Given the description of an element on the screen output the (x, y) to click on. 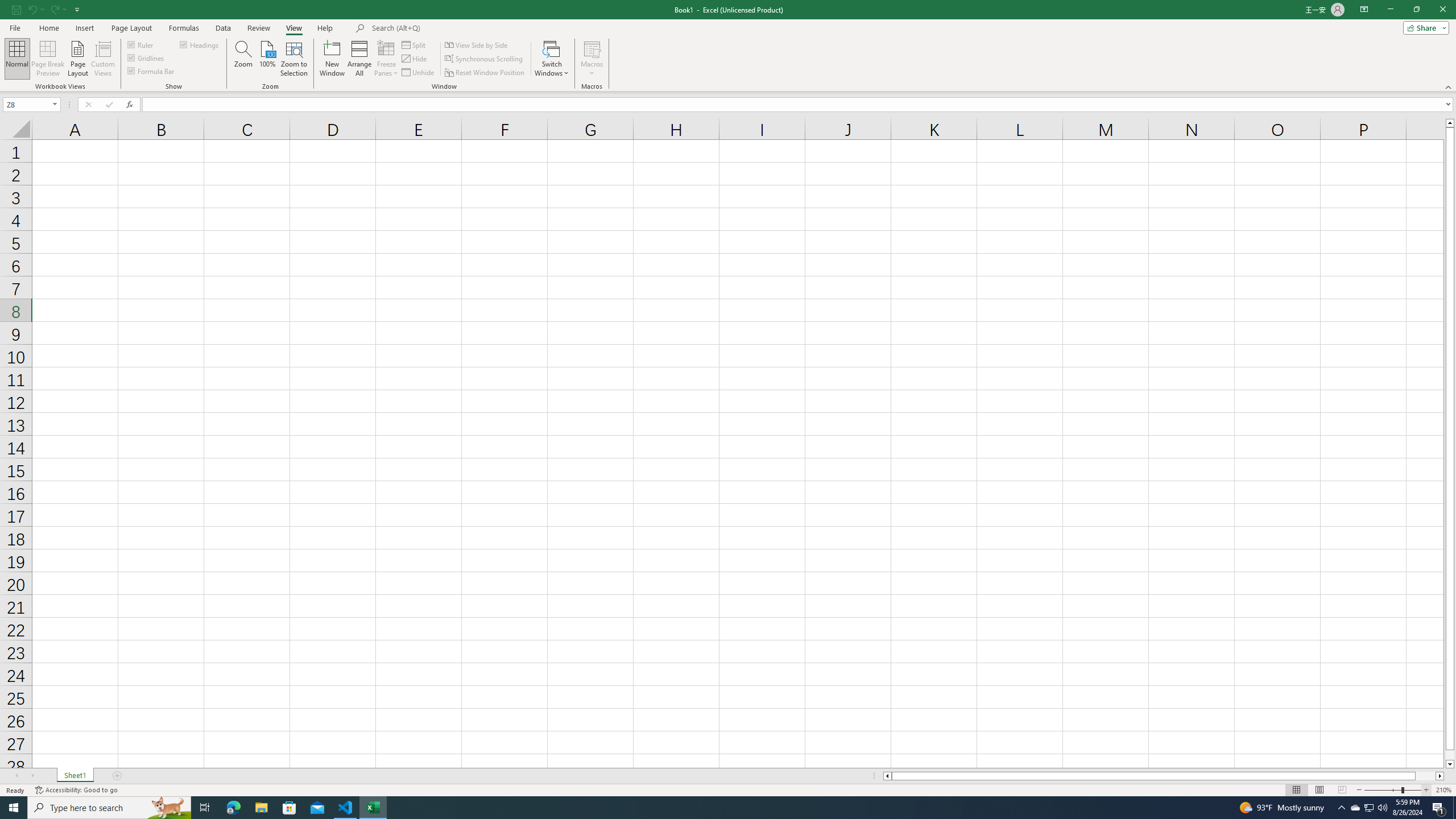
Switch Windows (551, 58)
Arrange All (359, 58)
Headings (199, 44)
New Window (332, 58)
